Given the description of an element on the screen output the (x, y) to click on. 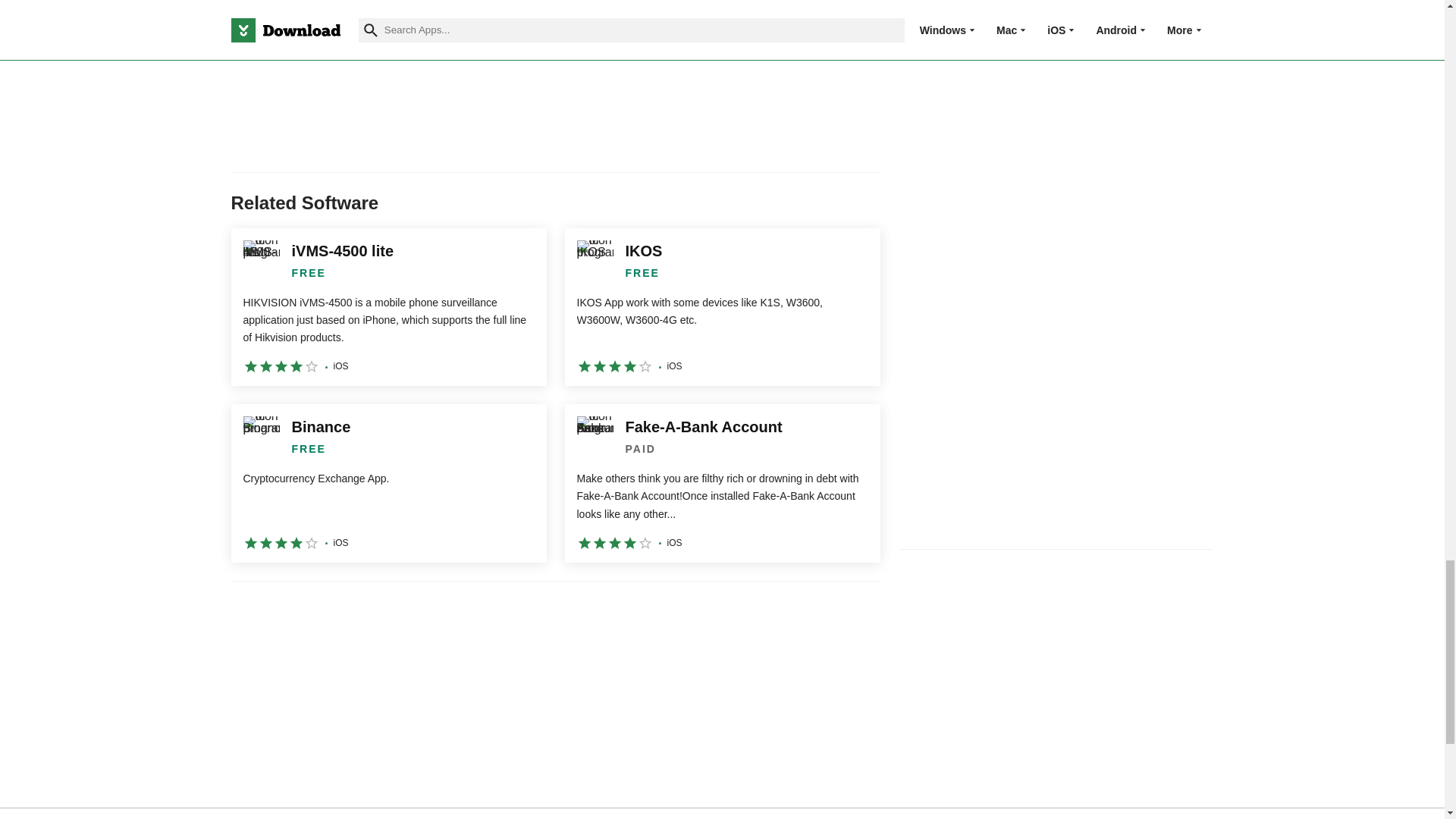
Binance (388, 482)
iVMS-4500 lite (388, 306)
Fake-A-Bank Account (721, 482)
IKOS (721, 306)
